Given the description of an element on the screen output the (x, y) to click on. 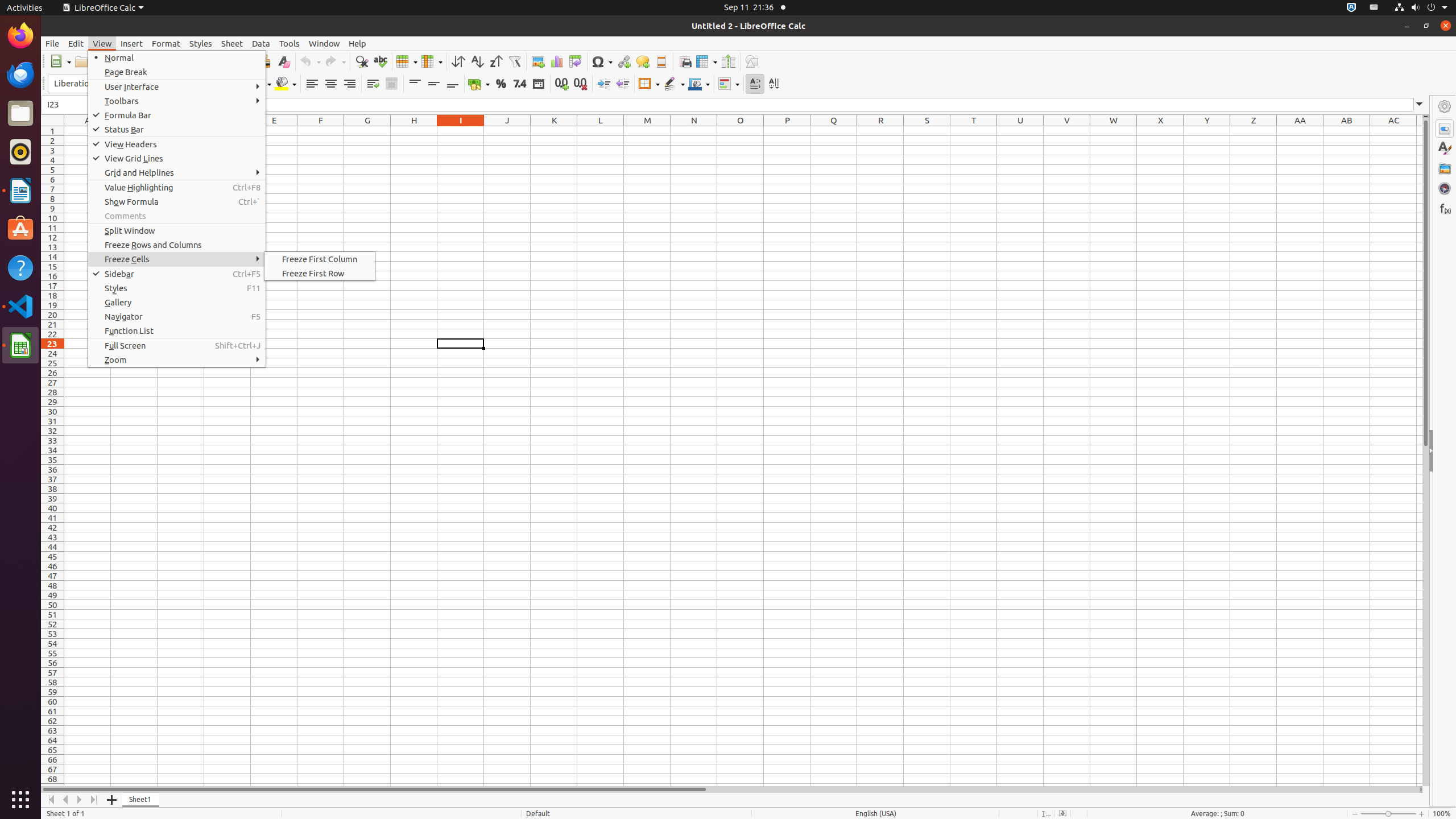
Hyperlink Element type: toggle-button (623, 61)
Freeze Cells Element type: menu (176, 258)
G1 Element type: table-cell (367, 130)
